Given the description of an element on the screen output the (x, y) to click on. 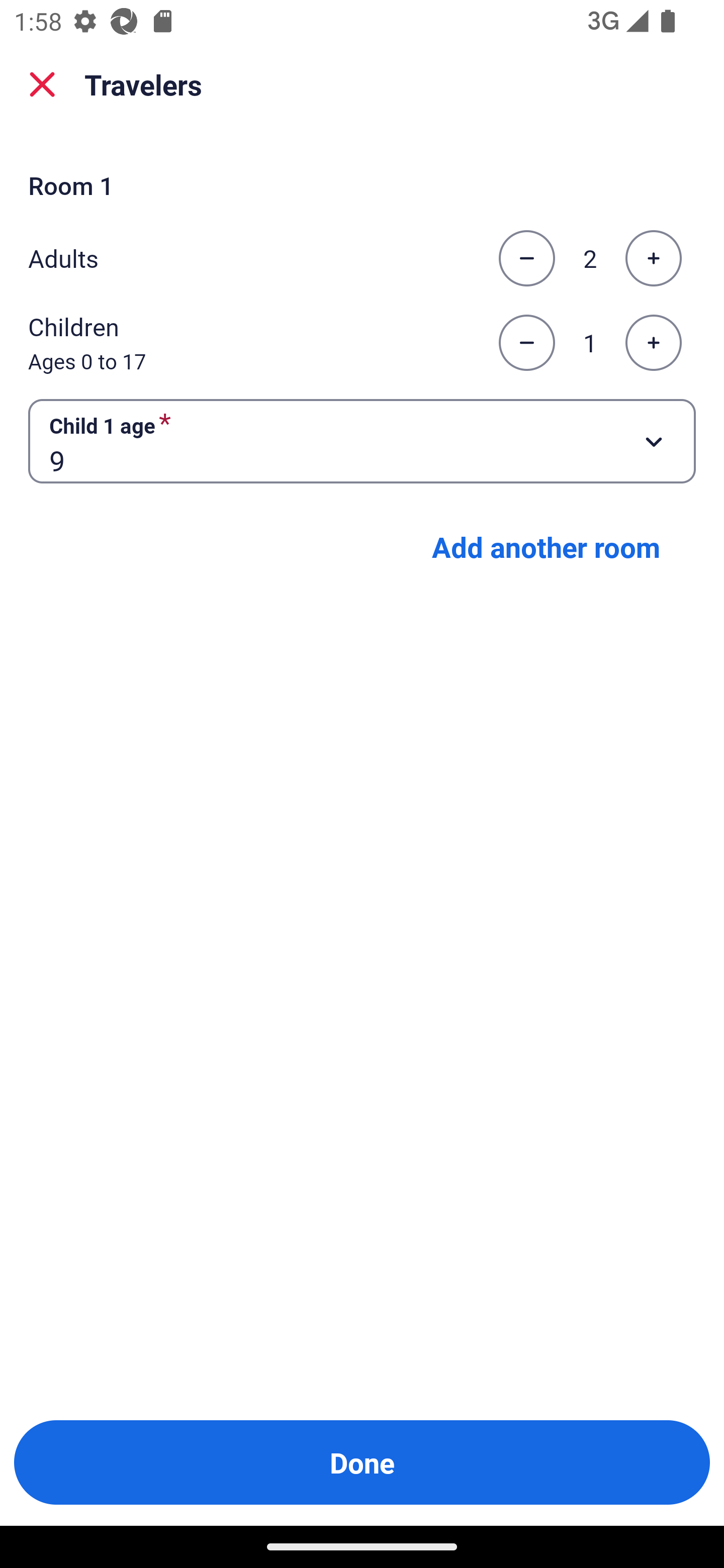
close (42, 84)
Decrease the number of adults (526, 258)
Increase the number of adults (653, 258)
Decrease the number of children (526, 343)
Increase the number of children (653, 343)
Child 1 age required Button 9 (361, 440)
Add another room (545, 546)
Done (361, 1462)
